Given the description of an element on the screen output the (x, y) to click on. 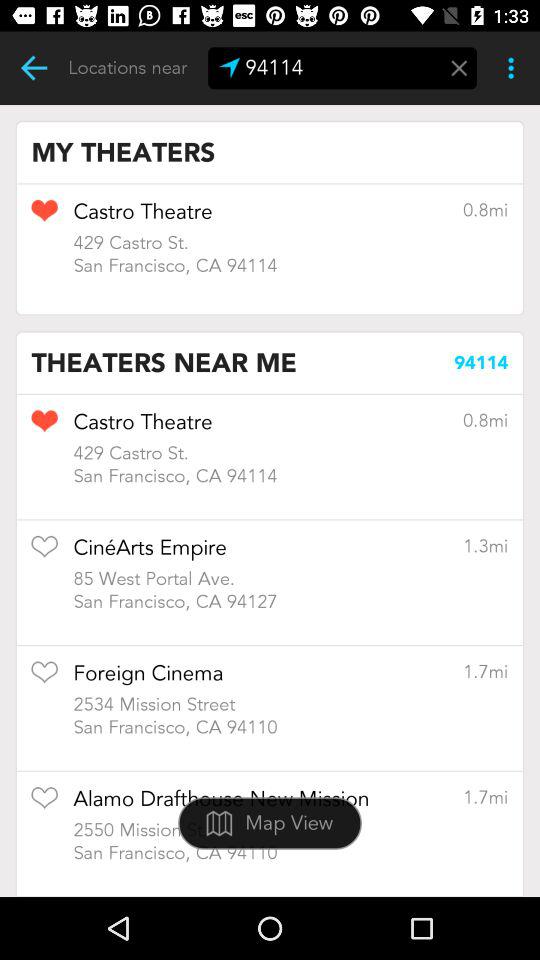
like (44, 217)
